Given the description of an element on the screen output the (x, y) to click on. 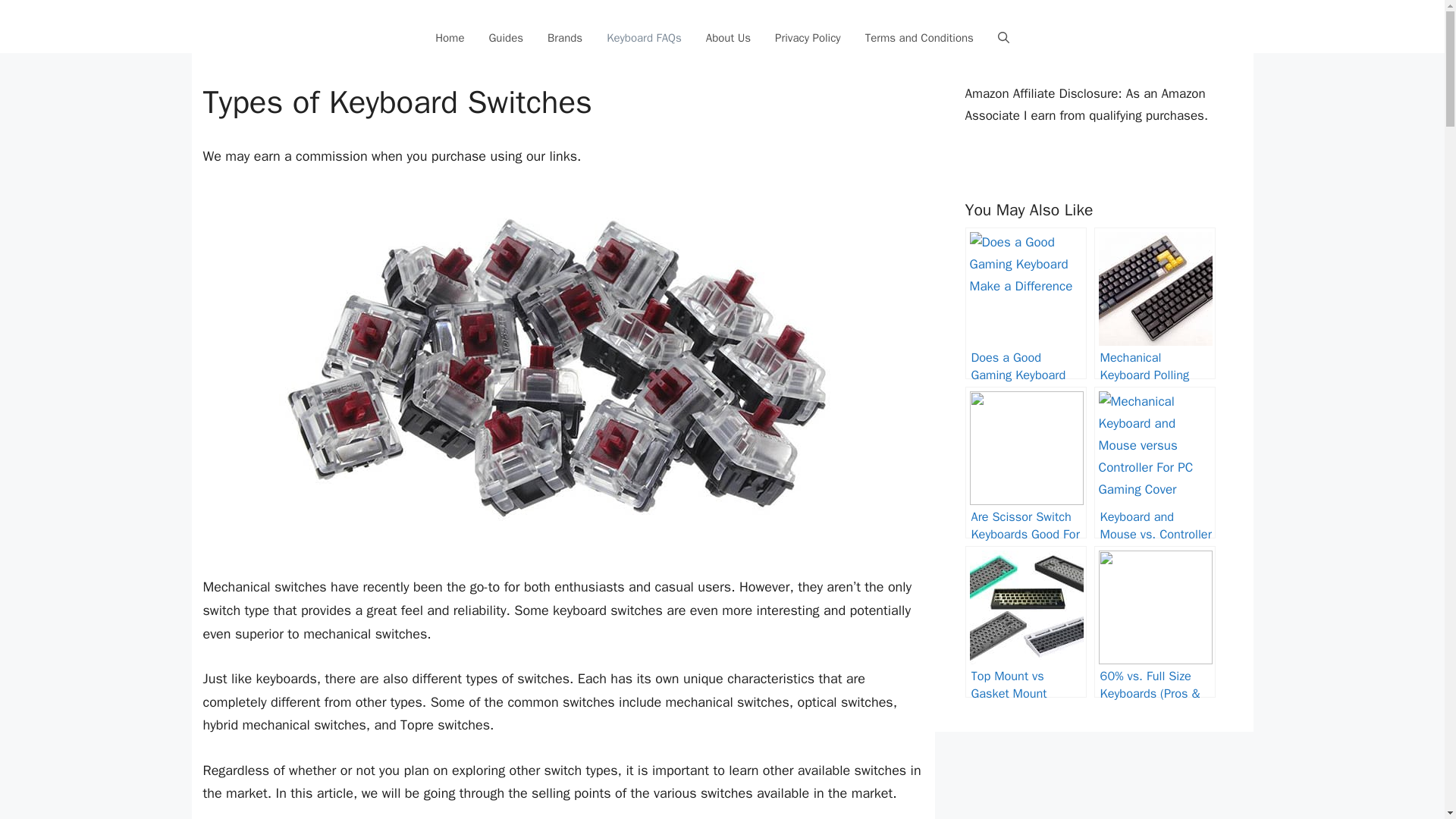
Brands (564, 37)
About Us (728, 37)
Keyboard FAQs (644, 37)
Privacy Policy (807, 37)
Terms and Conditions (919, 37)
Guides (505, 37)
Home (449, 37)
